Given the description of an element on the screen output the (x, y) to click on. 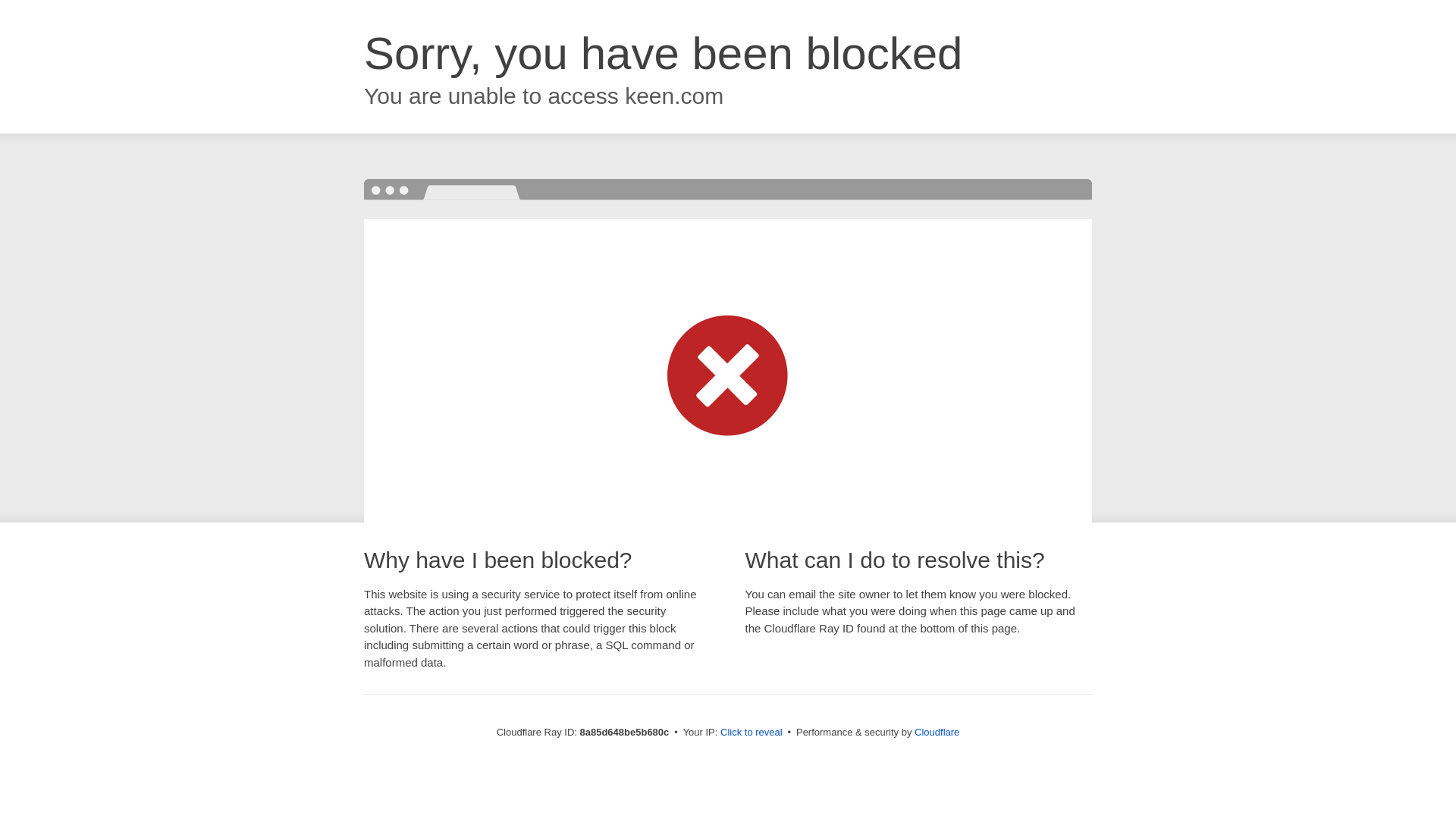
Click to reveal (751, 732)
Cloudflare (936, 731)
